Given the description of an element on the screen output the (x, y) to click on. 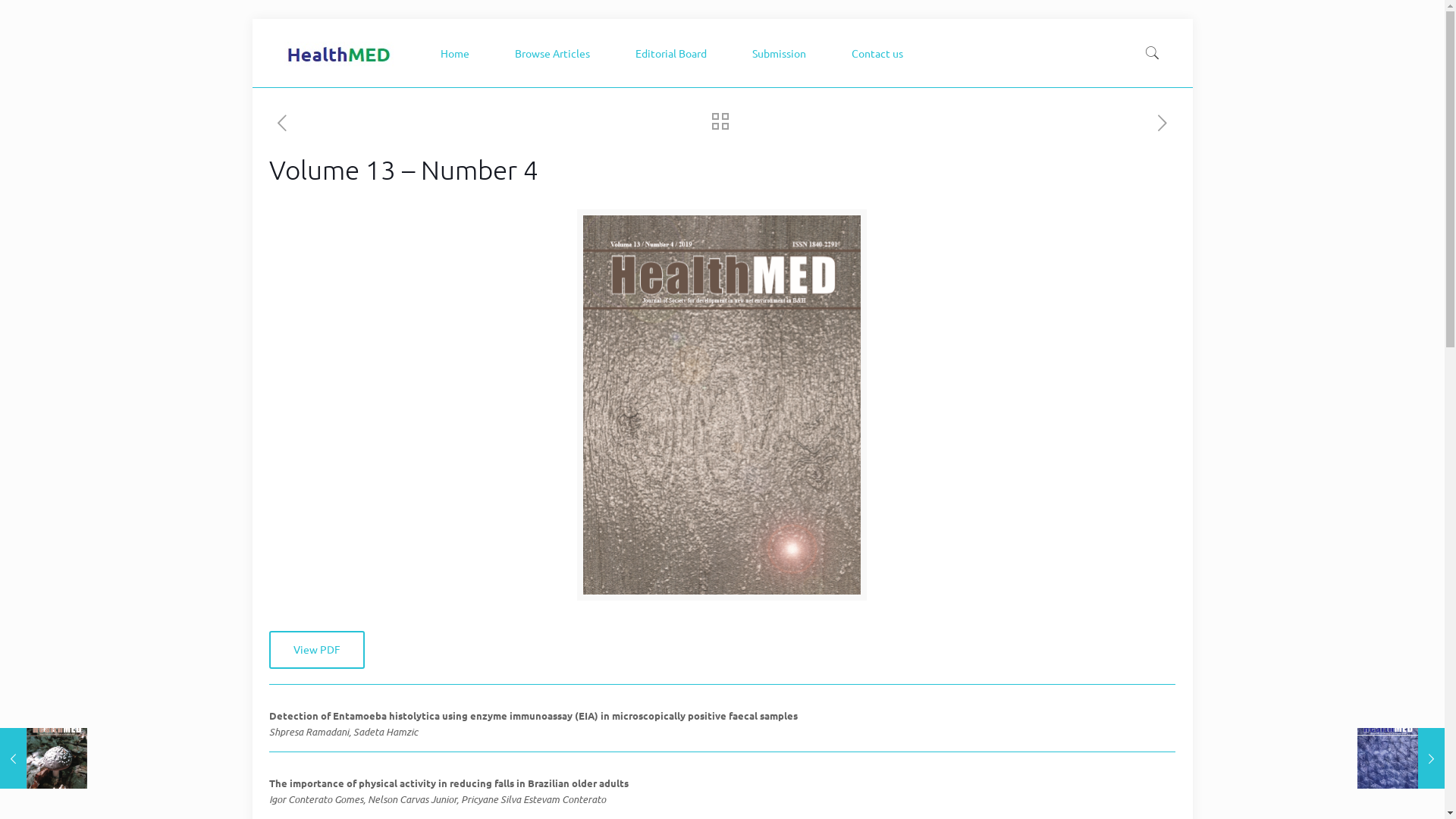
Contact us Element type: text (880, 52)
Editorial Board Element type: text (674, 52)
Submission Element type: text (782, 52)
View PDF Element type: text (316, 649)
Home Element type: text (458, 52)
Browse Articles Element type: text (555, 52)
